Given the description of an element on the screen output the (x, y) to click on. 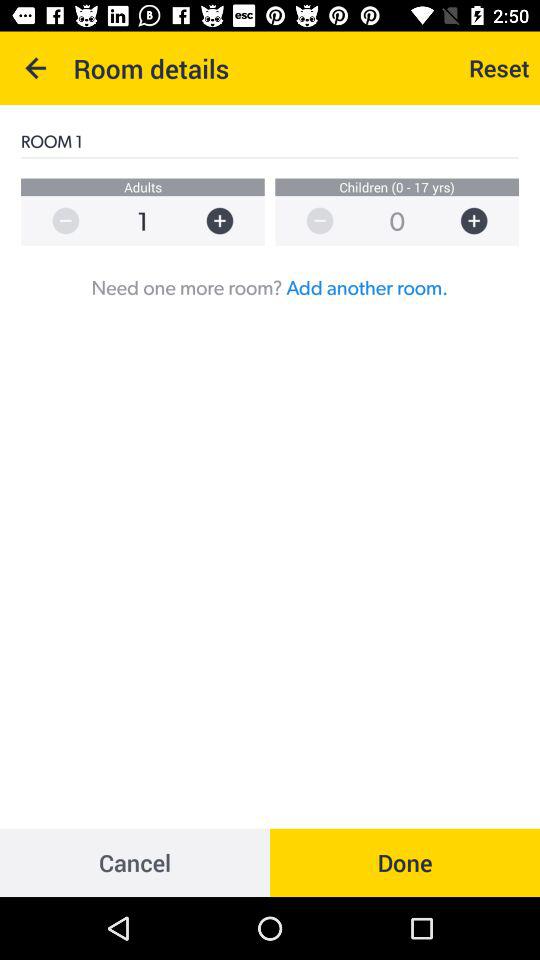
turn off the icon above the room 1 item (36, 68)
